Given the description of an element on the screen output the (x, y) to click on. 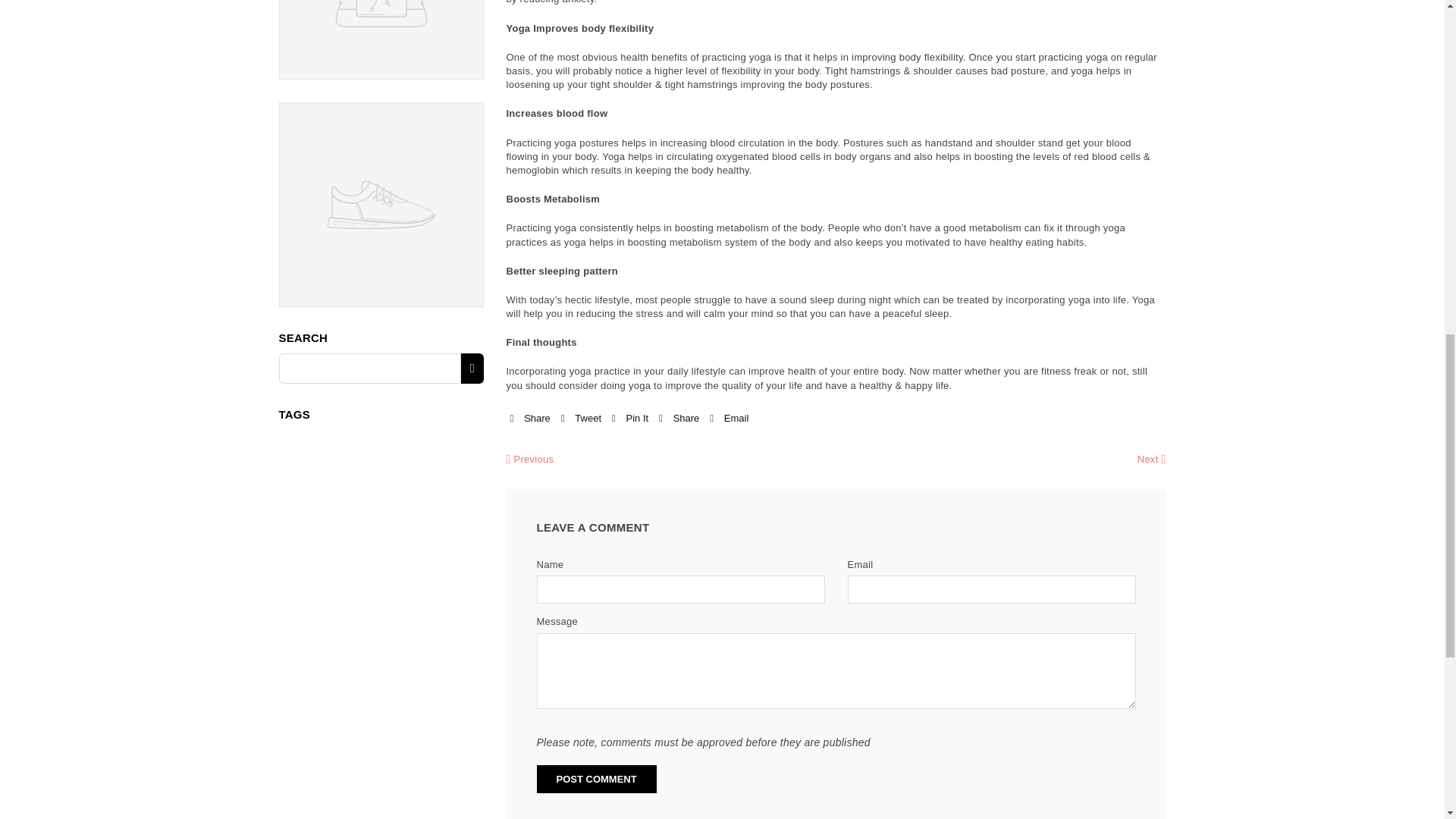
Post comment (596, 778)
Tweet (580, 418)
Share on Linked In (678, 418)
Pin on Pinterest (629, 418)
Share by Email (729, 418)
Post comment (596, 778)
Share (678, 418)
Email (729, 418)
Previous (530, 459)
Yoga Improves body flexibility (579, 28)
Share (529, 418)
Pin It (629, 418)
Next (1151, 459)
Yoga Improves body flexibility (579, 28)
Share on Facebook (529, 418)
